Given the description of an element on the screen output the (x, y) to click on. 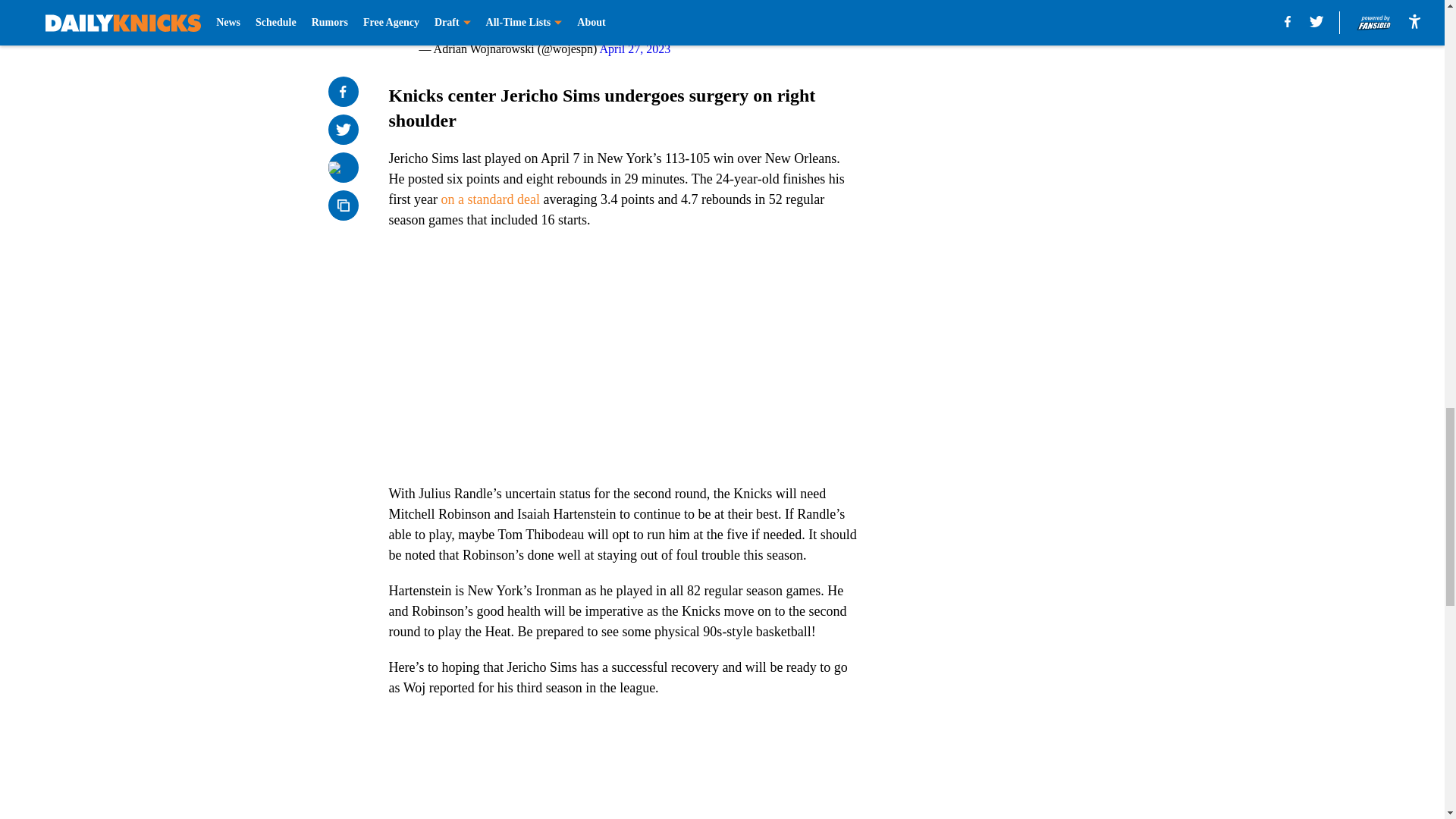
on a standard deal (489, 199)
April 27, 2023 (635, 48)
